Given the description of an element on the screen output the (x, y) to click on. 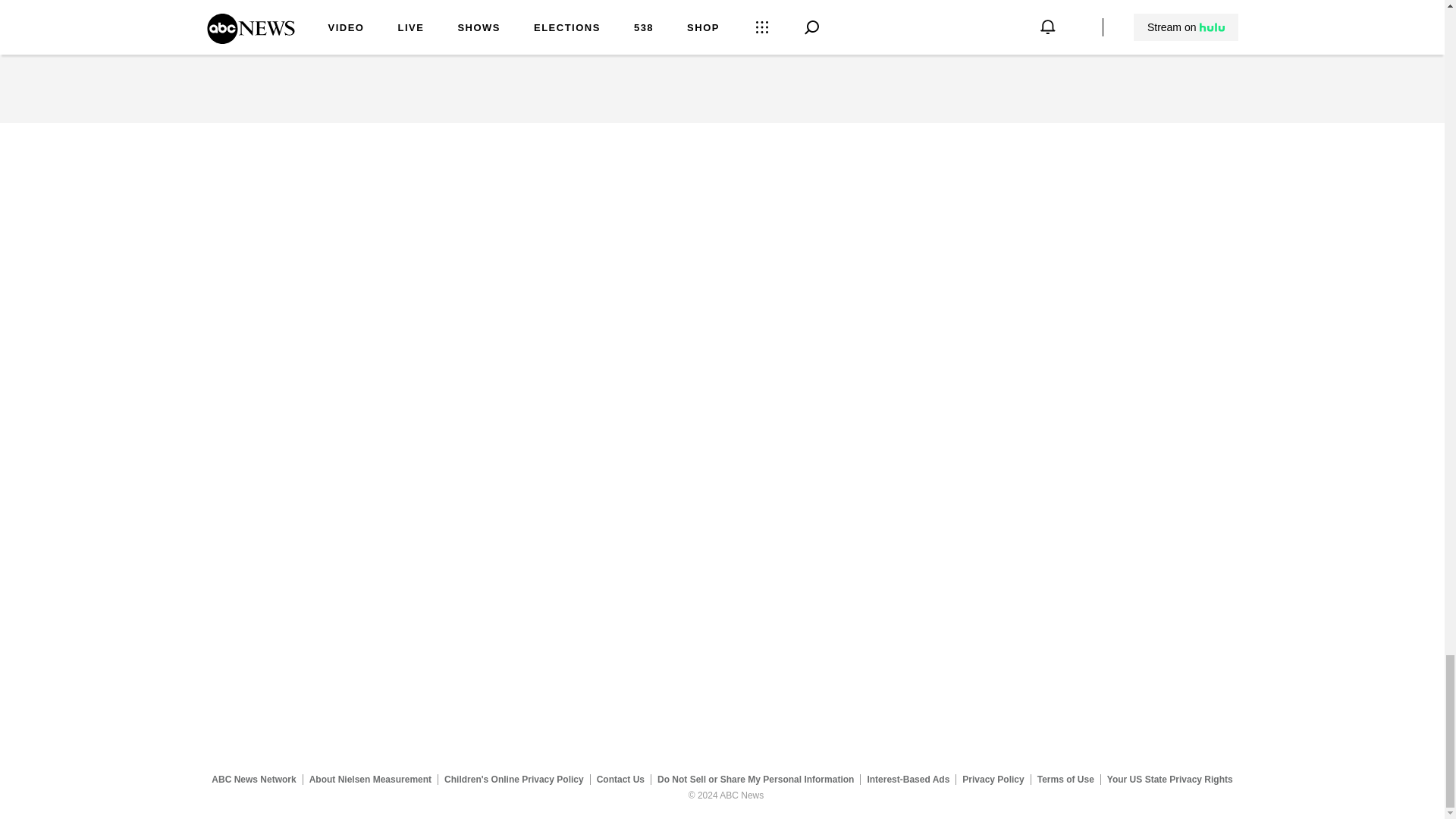
Your US State Privacy Rights (1169, 778)
Contact Us (620, 778)
Do Not Sell or Share My Personal Information (755, 778)
Privacy Policy (993, 778)
ABC News Network (253, 778)
Terms of Use (1065, 778)
Interest-Based Ads (908, 778)
About Nielsen Measurement (370, 778)
Children's Online Privacy Policy (514, 778)
